Given the description of an element on the screen output the (x, y) to click on. 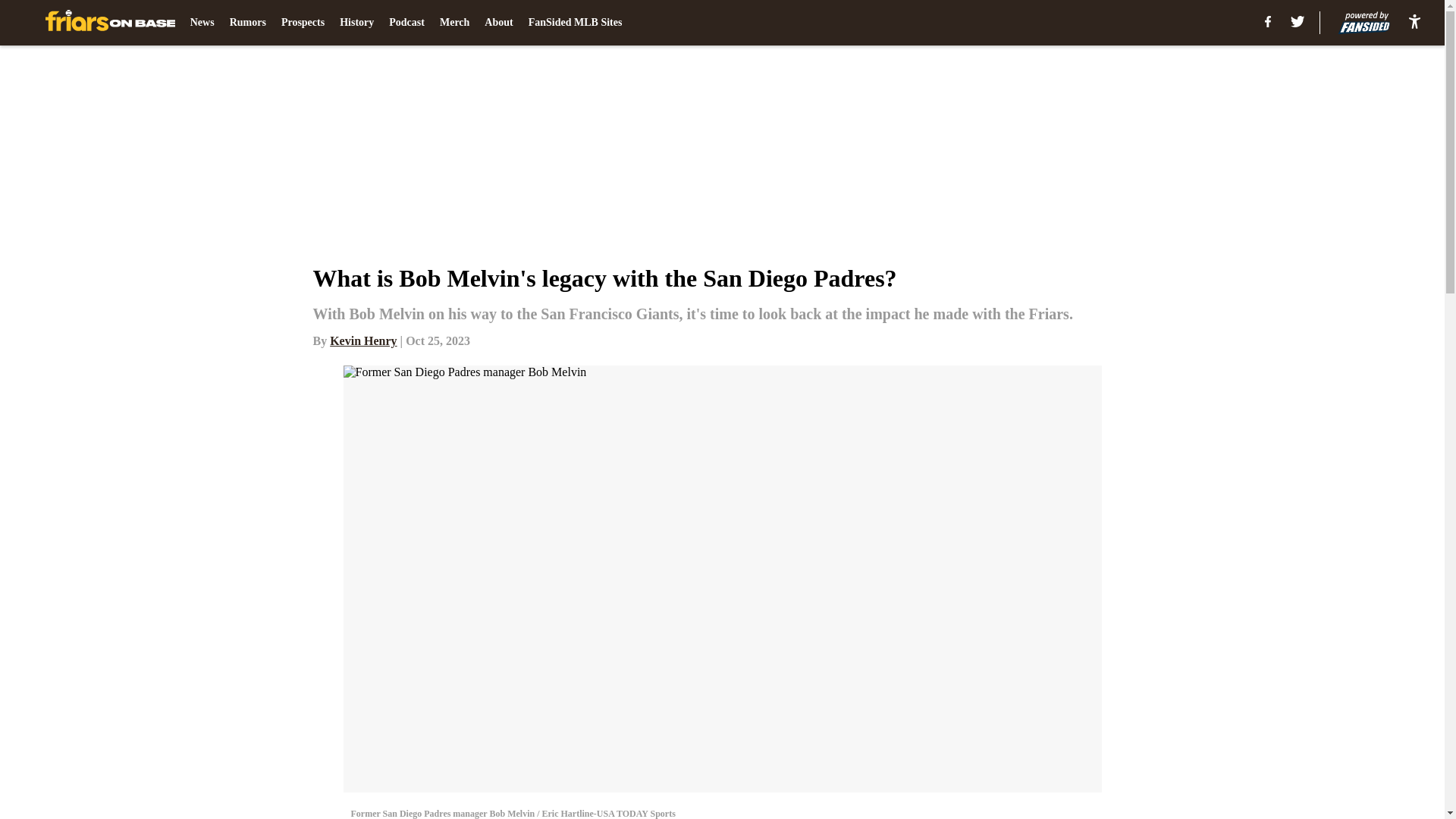
Prospects (302, 22)
About (498, 22)
Kevin Henry (363, 340)
Podcast (406, 22)
Merch (453, 22)
Rumors (248, 22)
News (202, 22)
FanSided MLB Sites (575, 22)
History (356, 22)
